Given the description of an element on the screen output the (x, y) to click on. 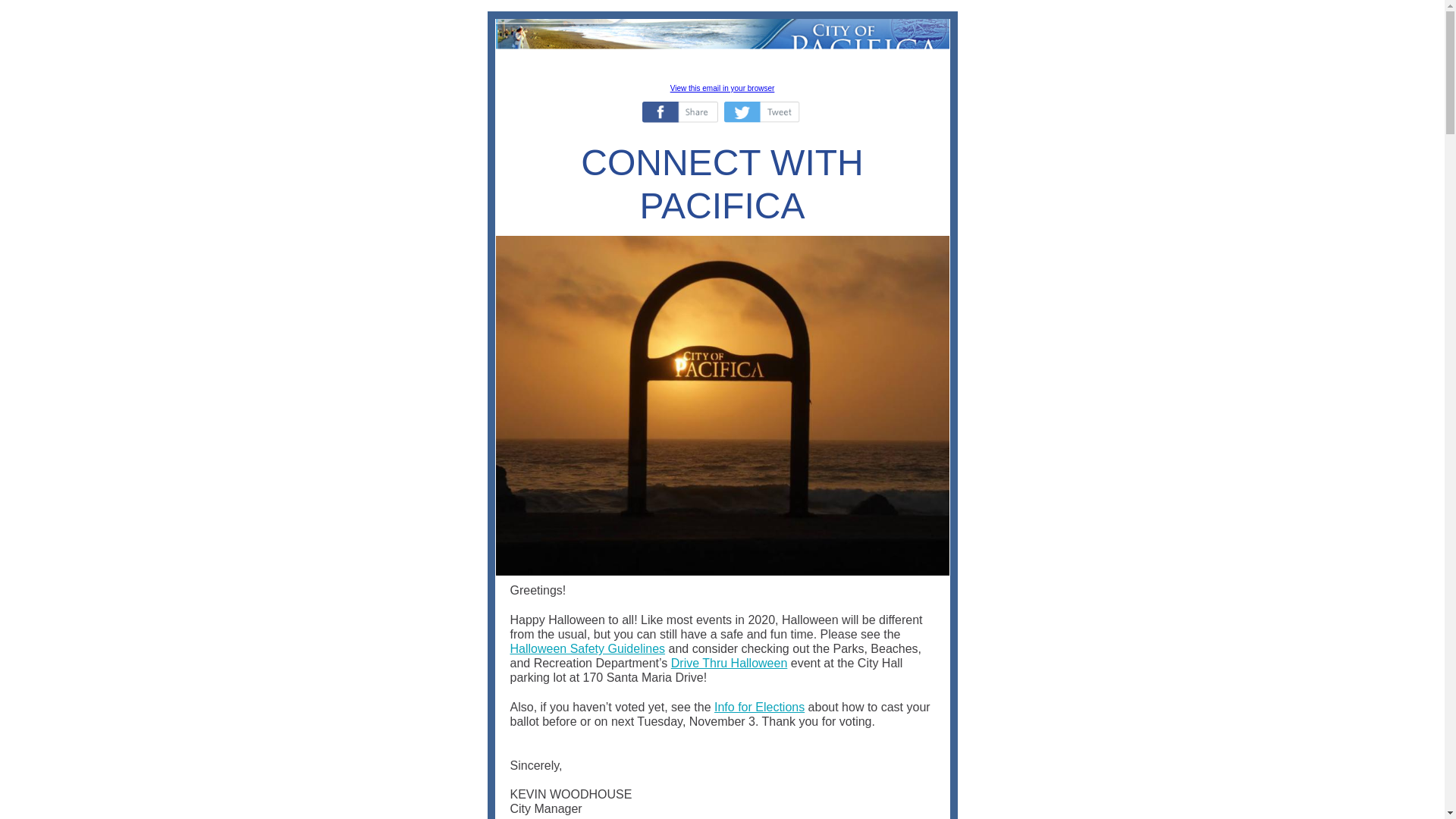
Halloween Safety Guidelines (587, 648)
Drive Thru Halloween (729, 662)
Info for Elections (759, 707)
View this email in your browser (721, 88)
